Given the description of an element on the screen output the (x, y) to click on. 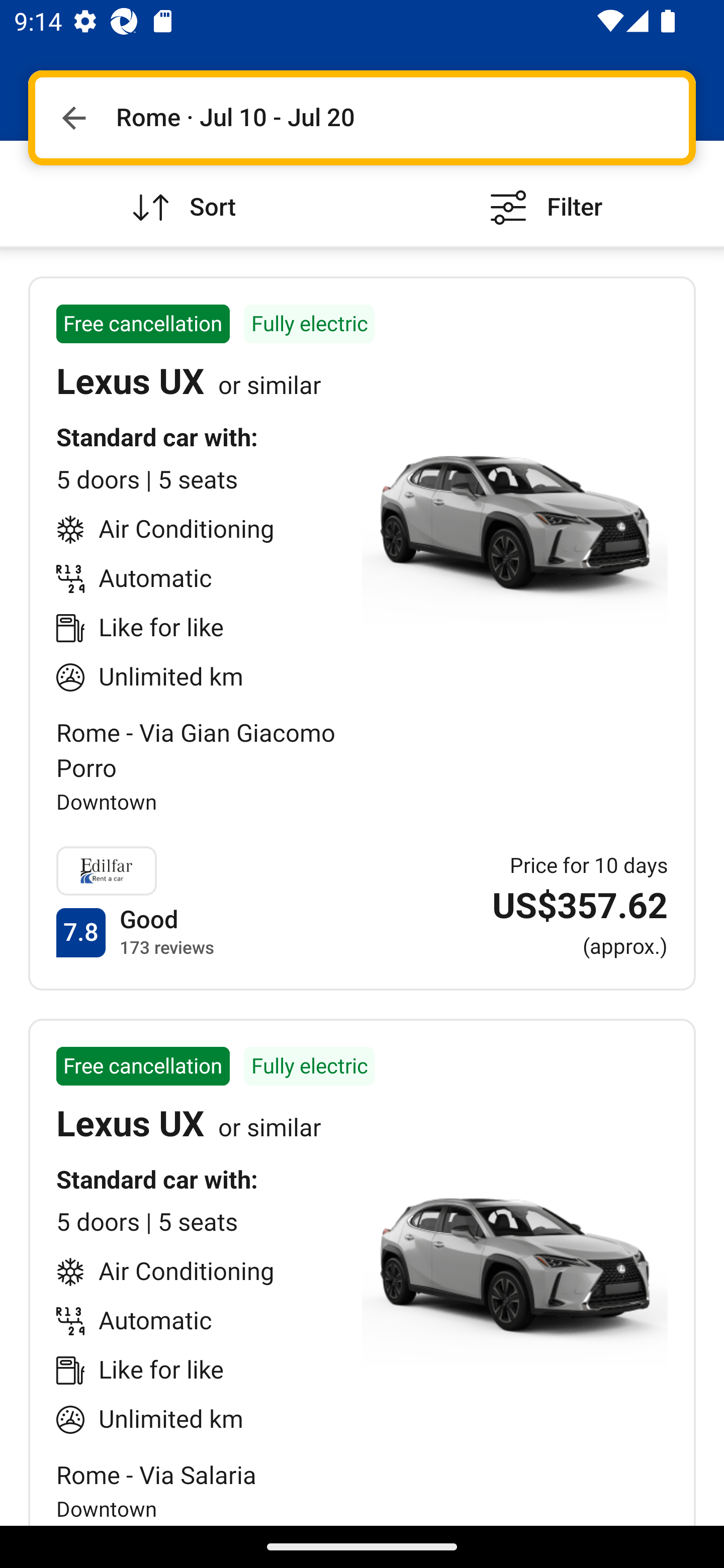
Back to previous screen (73, 117)
Sort (181, 193)
Filter (543, 193)
